Given the description of an element on the screen output the (x, y) to click on. 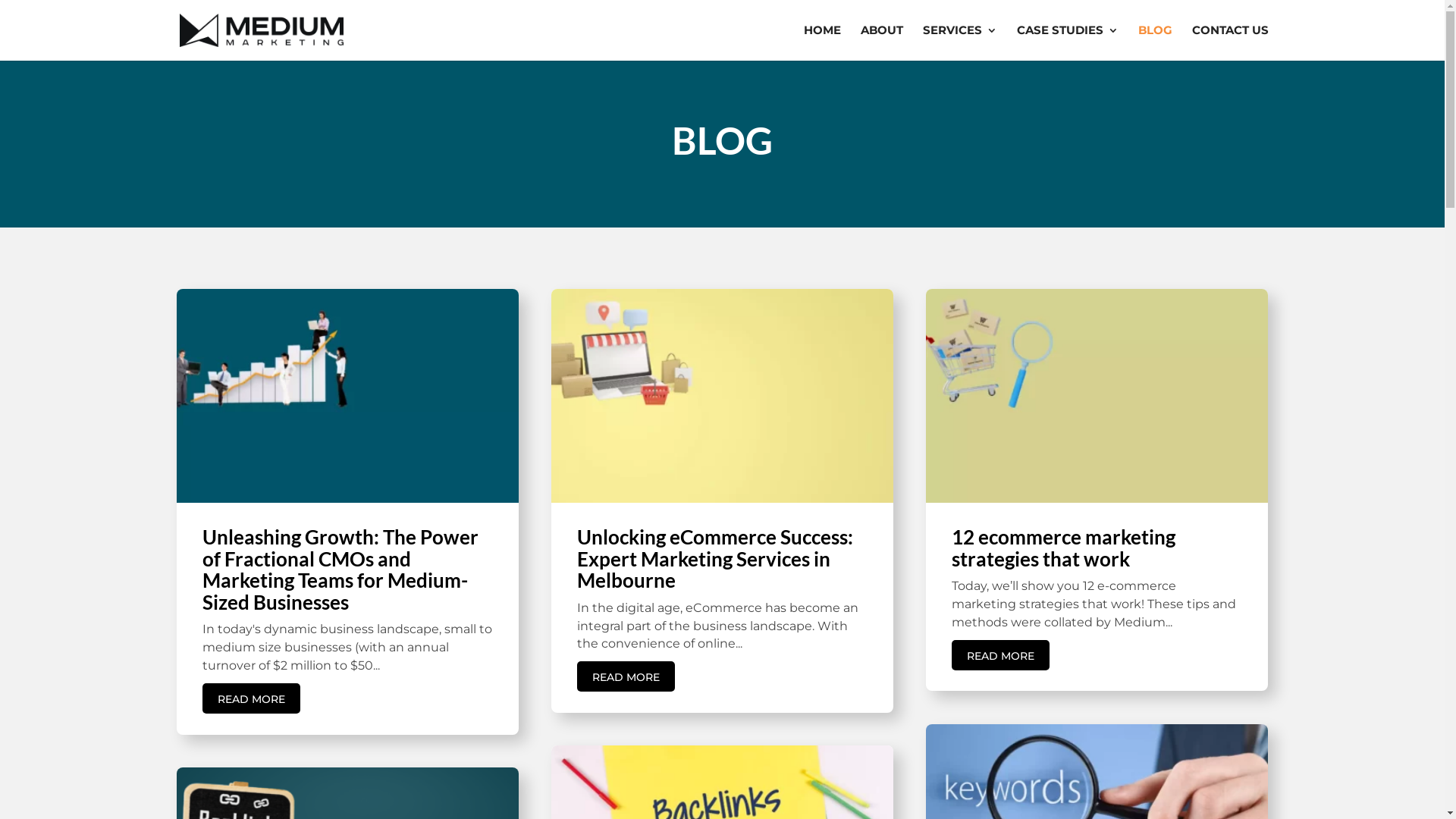
READ MORE Element type: text (250, 698)
12 ecommerce marketing strategies that work Element type: text (1063, 547)
CASE STUDIES Element type: text (1066, 42)
READ MORE Element type: text (1000, 655)
BLOG Element type: text (1154, 42)
ABOUT Element type: text (880, 42)
READ MORE Element type: text (625, 676)
CONTACT US Element type: text (1230, 42)
HOME Element type: text (821, 42)
SERVICES Element type: text (959, 42)
